Given the description of an element on the screen output the (x, y) to click on. 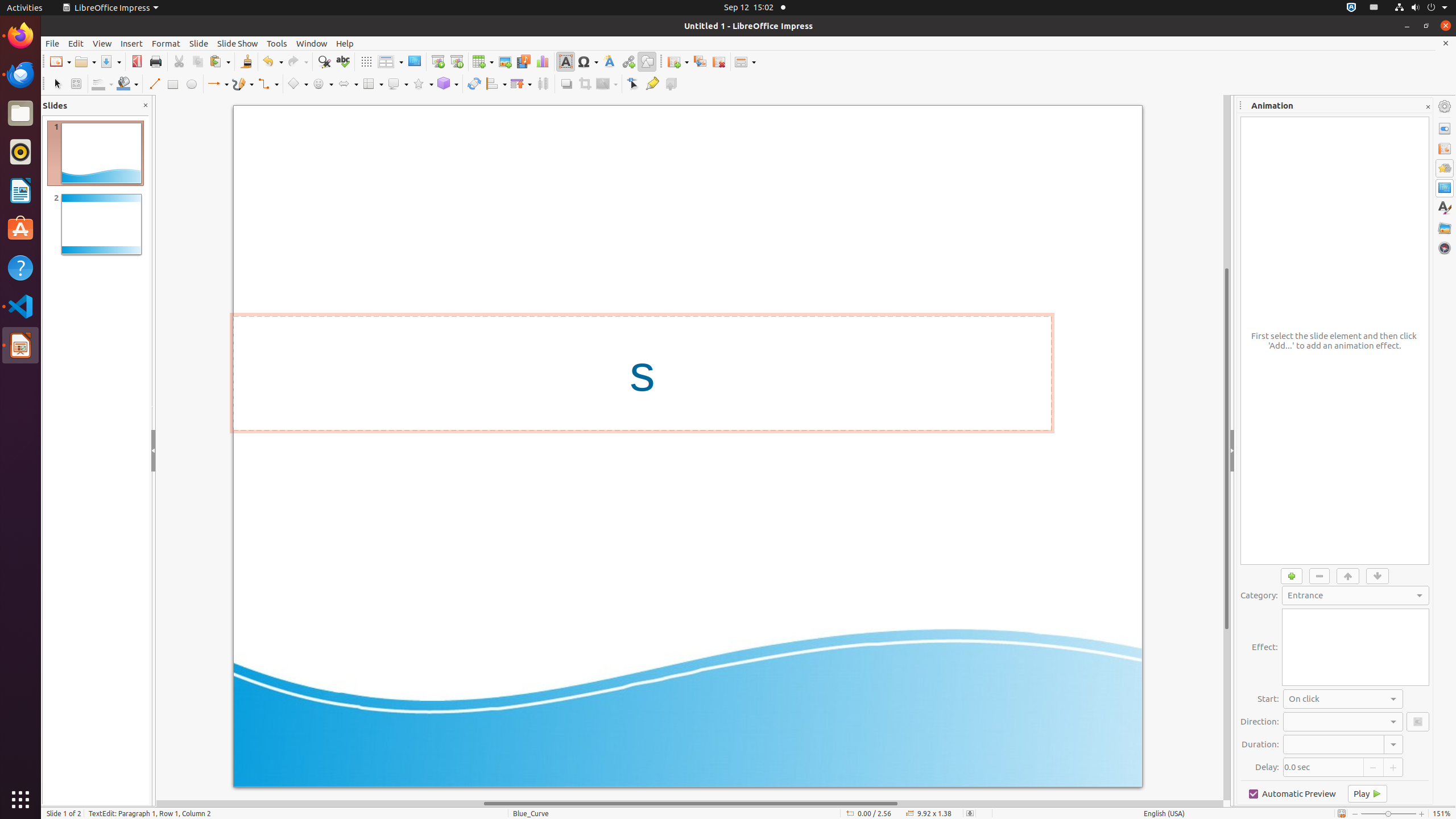
Draw Functions Element type: toggle-button (646, 61)
Symbol Element type: push-button (587, 61)
Shadow Element type: toggle-button (565, 83)
Symbol Shapes Element type: push-button (321, 83)
Cut Element type: push-button (178, 61)
